Given the description of an element on the screen output the (x, y) to click on. 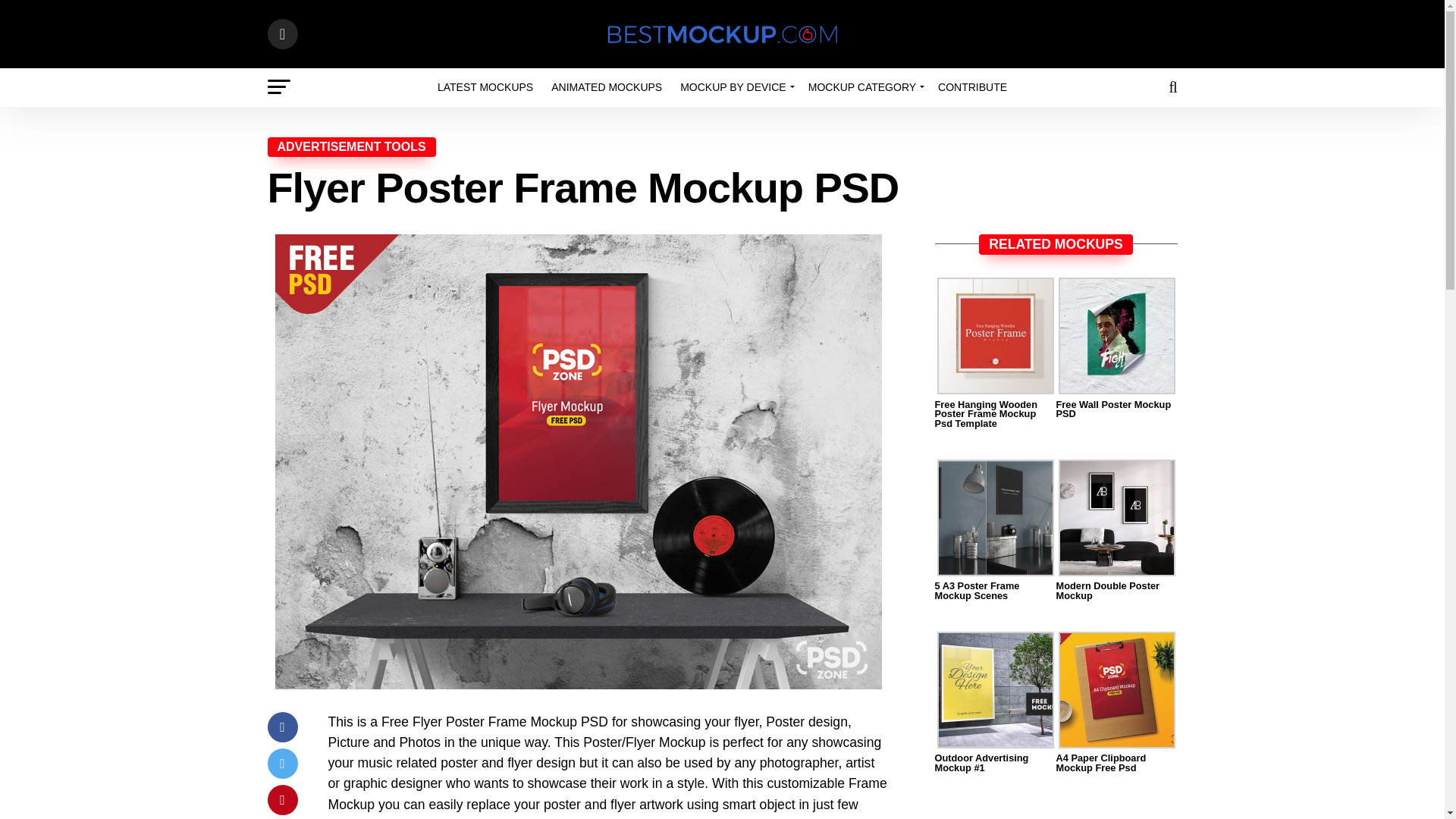
MOCKUP BY DEVICE (735, 86)
MOCKUP CATEGORY (863, 86)
LATEST MOCKUPS (484, 86)
ANIMATED MOCKUPS (606, 86)
